Given the description of an element on the screen output the (x, y) to click on. 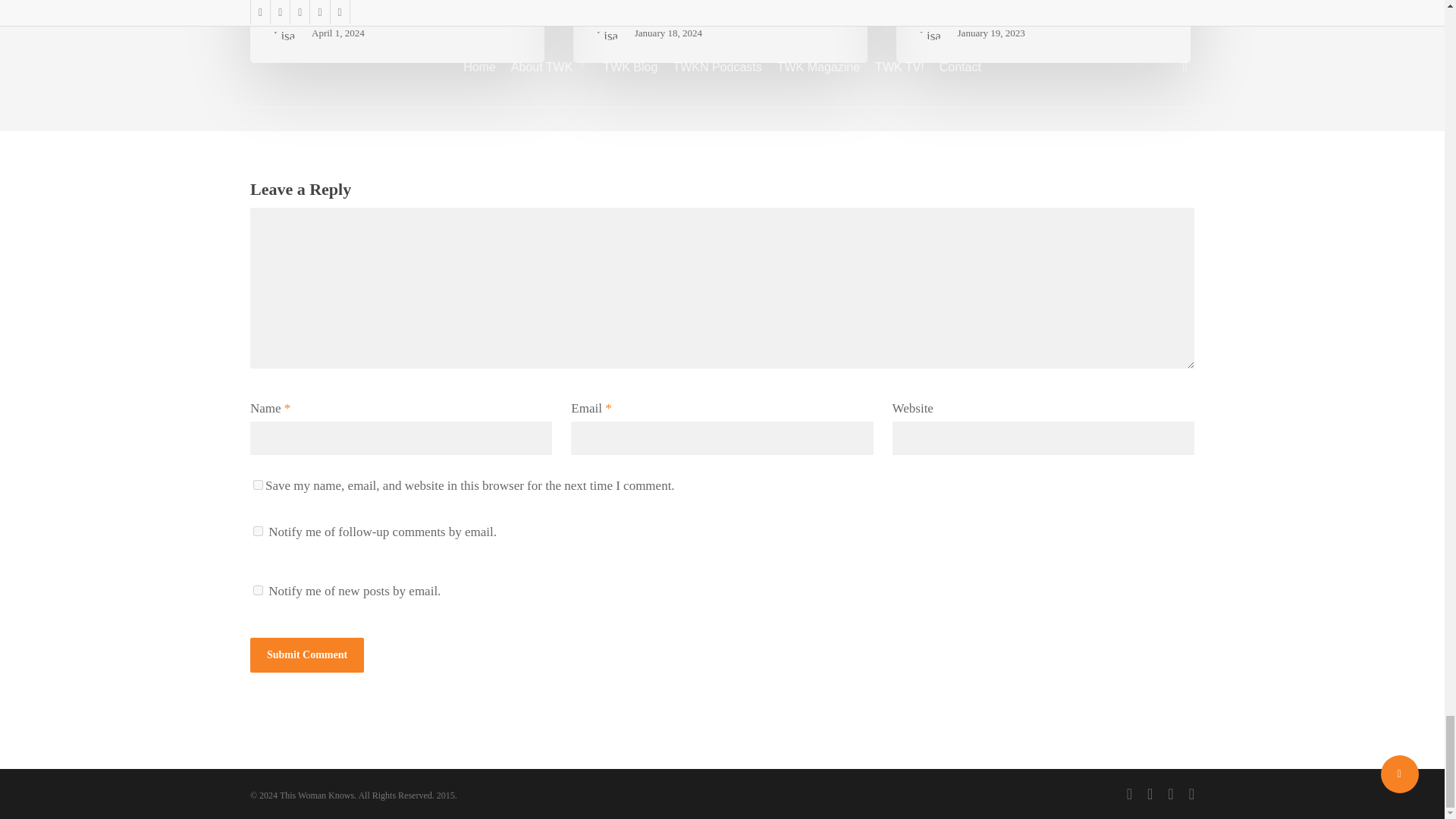
Submit Comment (307, 655)
yes (258, 484)
subscribe (258, 590)
subscribe (258, 531)
